Given the description of an element on the screen output the (x, y) to click on. 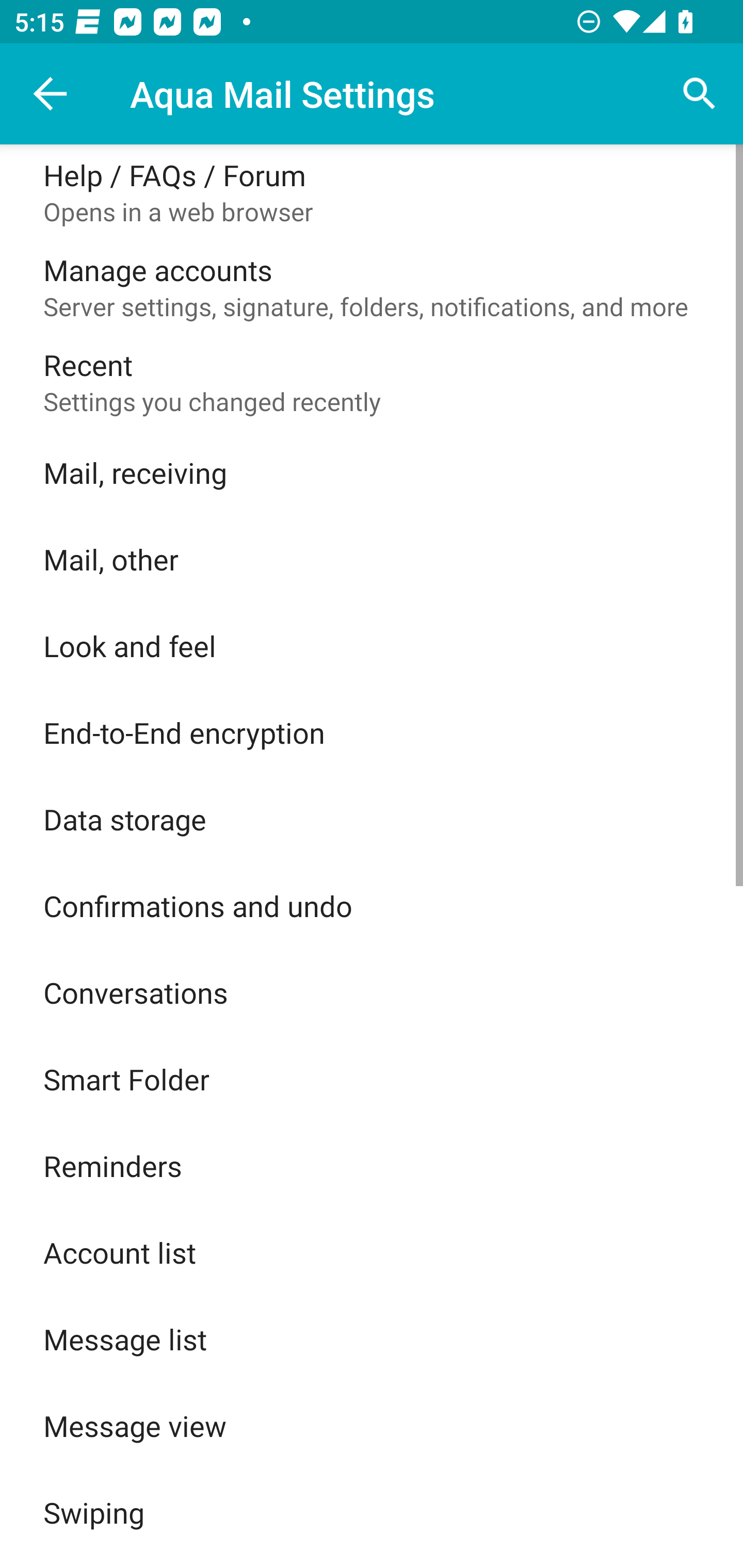
Navigate up (50, 93)
Search (699, 93)
Help / FAQs / Forum Opens in a web browser (371, 191)
Recent Settings you changed recently (371, 381)
Mail, receiving (371, 472)
Mail, other (371, 558)
Look and feel (371, 645)
End-to-End encryption (371, 732)
Data storage (371, 819)
Confirmations and undo (371, 905)
Conversations (371, 992)
Smart Folder (371, 1079)
Reminders (371, 1165)
Account list (371, 1251)
Message list (371, 1338)
Message view (371, 1425)
Swiping (371, 1512)
